Given the description of an element on the screen output the (x, y) to click on. 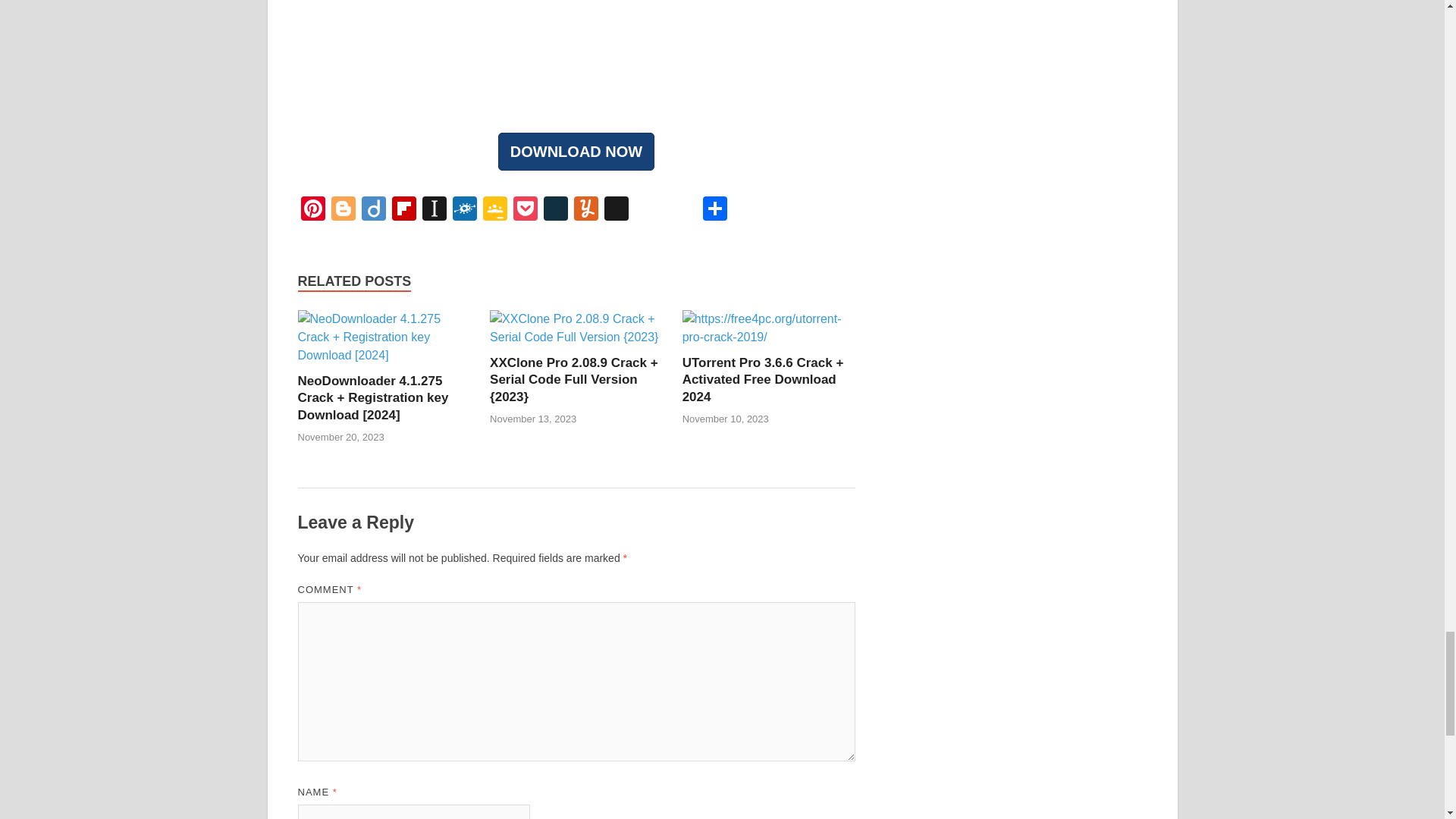
YouTube video player (575, 50)
Flipboard (403, 210)
BibSonomy (614, 210)
Folkd (463, 210)
LiveJournal (555, 210)
Instapaper (433, 210)
Diigo (373, 210)
Flipboard (403, 210)
DOWNLOAD NOW (575, 151)
Google Classroom (494, 210)
